Given the description of an element on the screen output the (x, y) to click on. 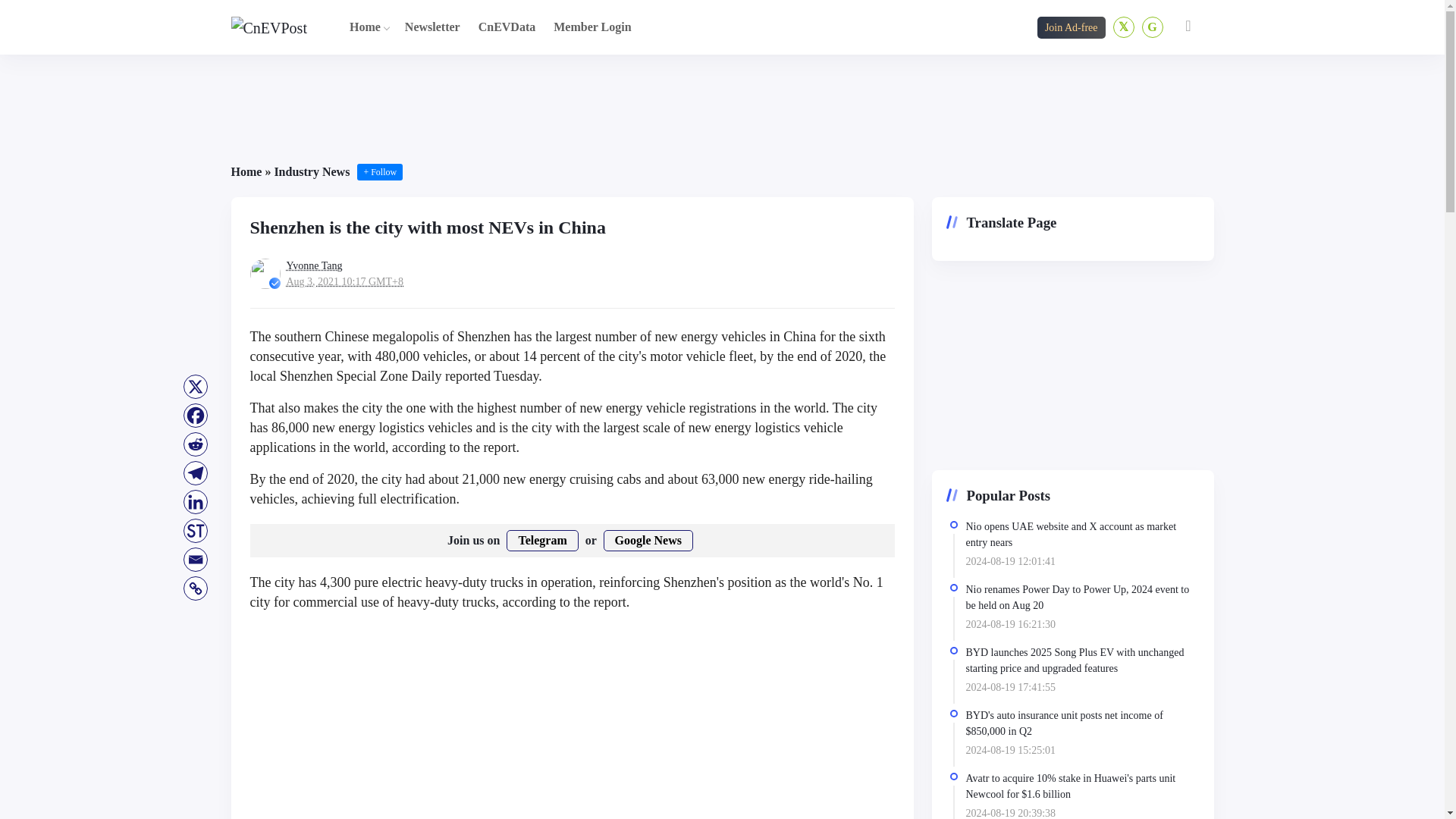
Home (246, 171)
Member Login (592, 27)
X (194, 386)
G (1152, 26)
Industry News (311, 171)
Newsletter (431, 27)
Google News (648, 540)
Facebook (194, 415)
Reddit (194, 443)
Home (365, 27)
